Given the description of an element on the screen output the (x, y) to click on. 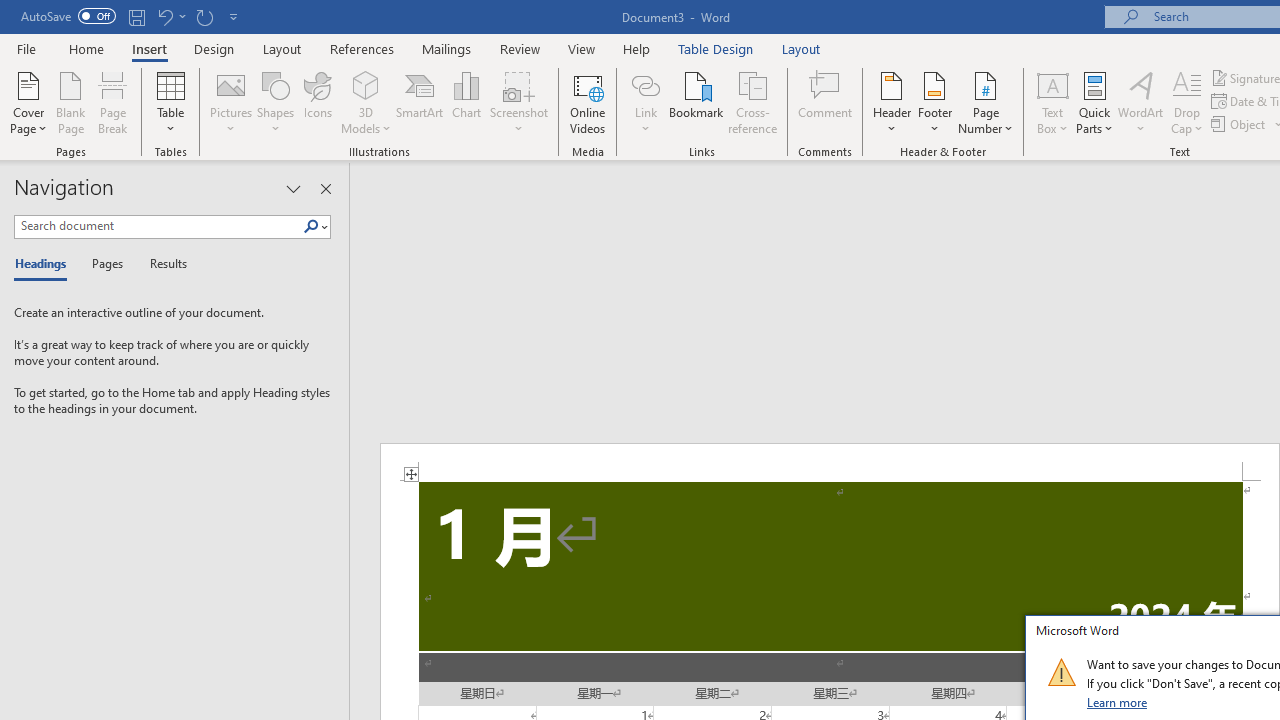
Blank Page (70, 102)
Footer (934, 102)
Cross-reference... (752, 102)
Repeat Doc Close (204, 15)
Header (891, 102)
Screenshot (518, 102)
3D Models (366, 102)
Comment (825, 102)
